Given the description of an element on the screen output the (x, y) to click on. 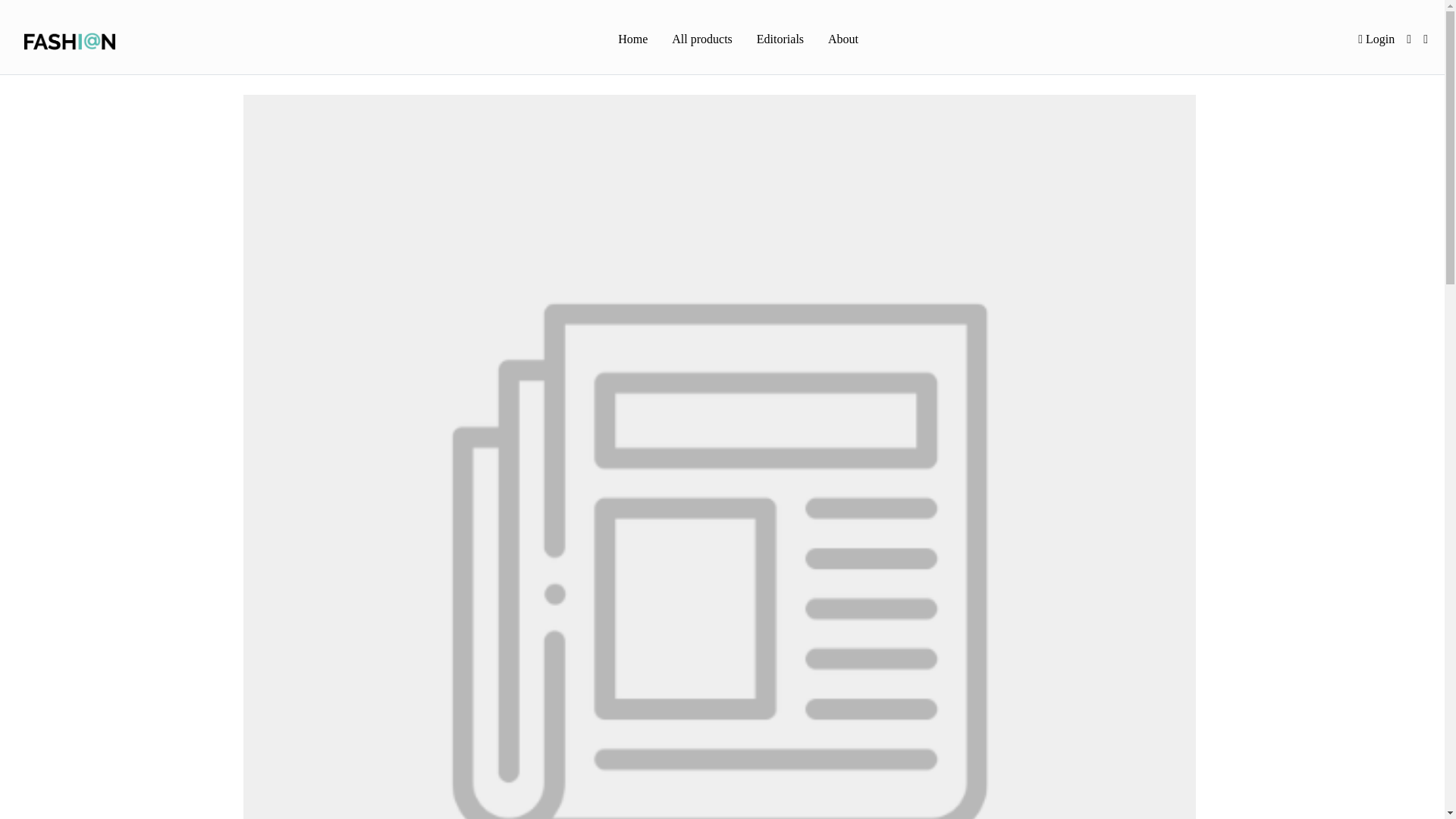
About (843, 40)
Home (632, 40)
All products (701, 40)
Login (1376, 39)
Editorials (780, 40)
